Given the description of an element on the screen output the (x, y) to click on. 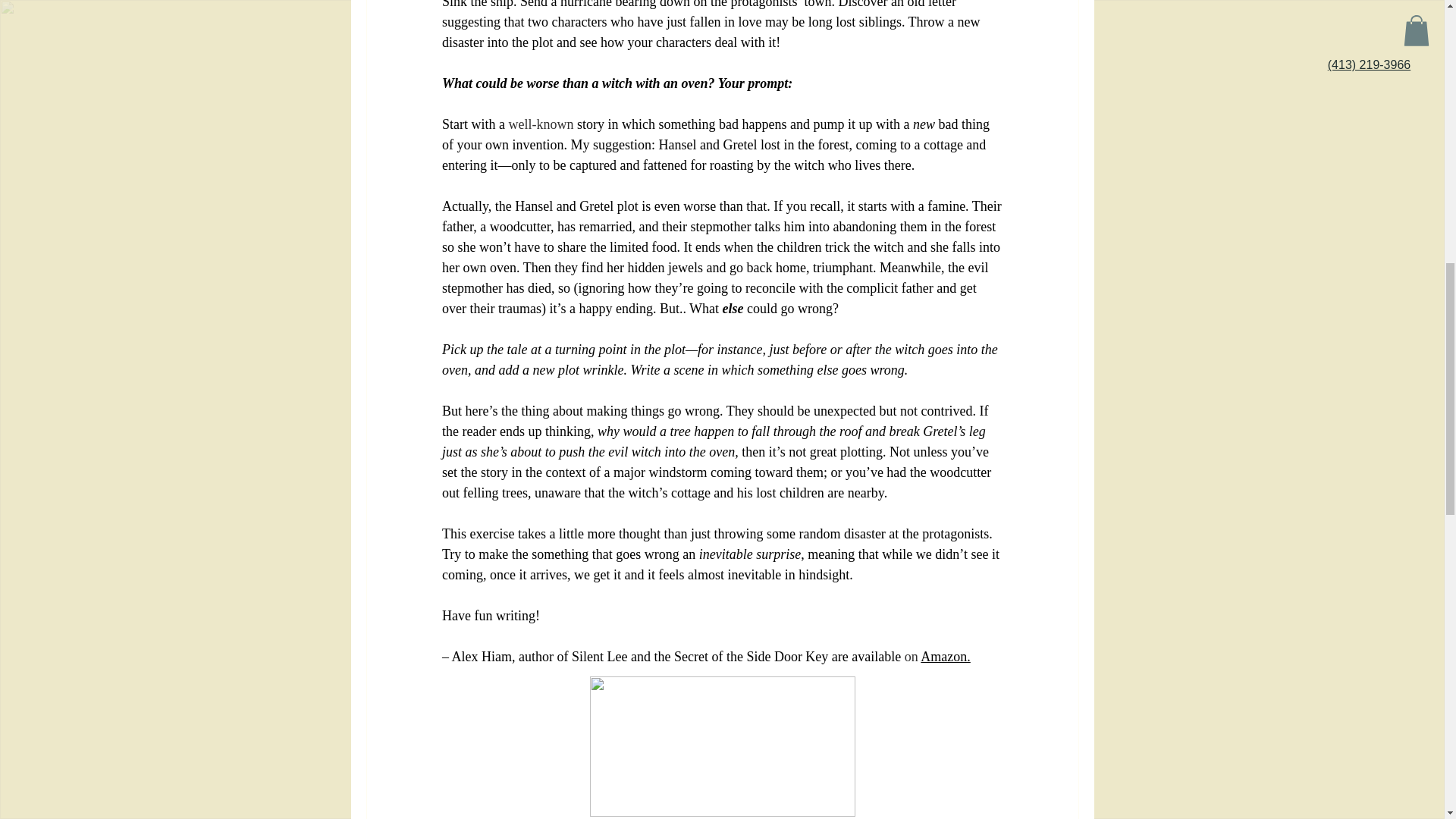
Amazon. (944, 656)
